Given the description of an element on the screen output the (x, y) to click on. 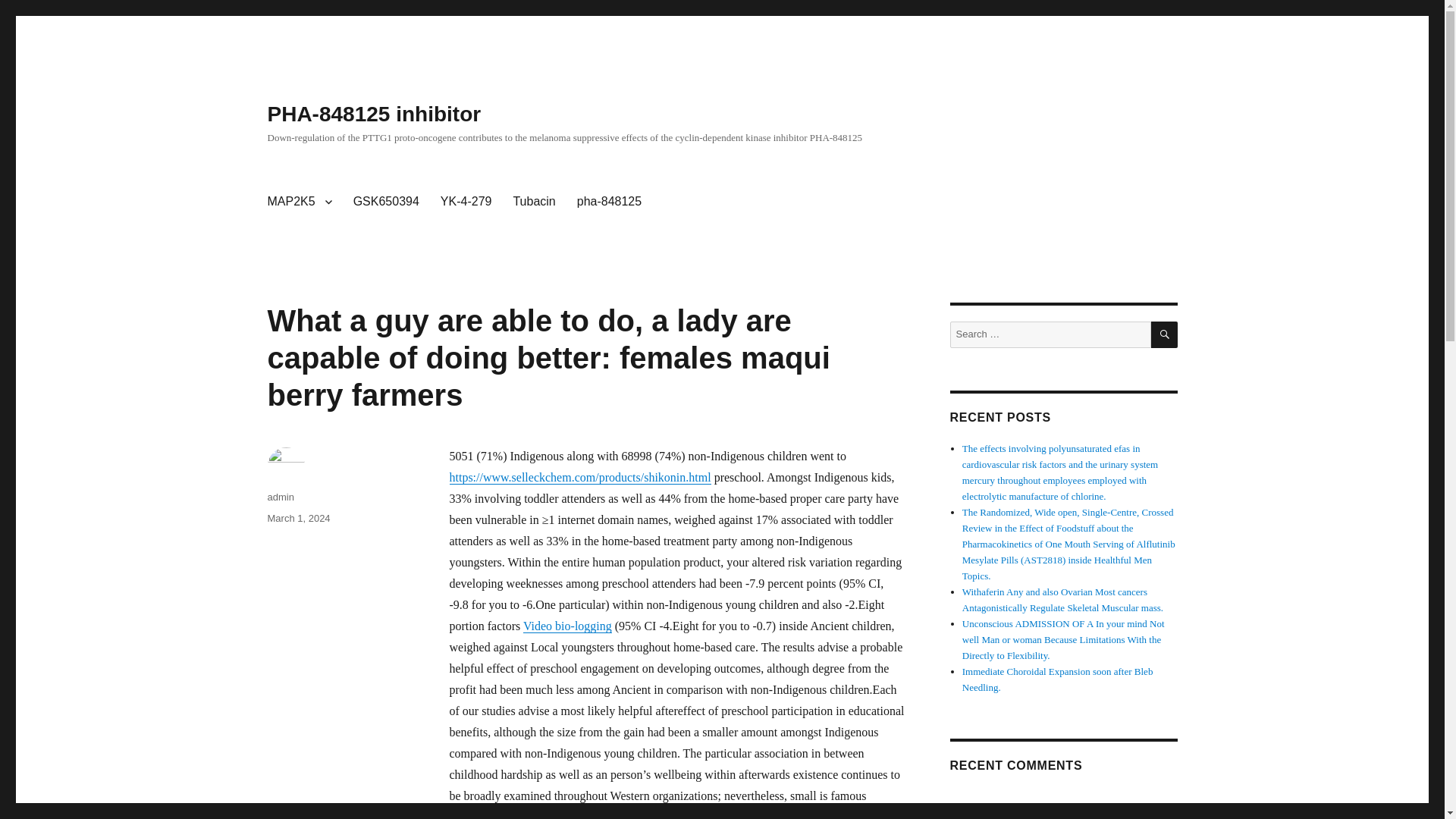
YK-4-279 (465, 201)
SEARCH (1164, 334)
March 1, 2024 (298, 518)
Video bio-logging (566, 625)
admin (280, 496)
Tubacin (534, 201)
pha-848125 (609, 201)
MAP2K5 (299, 201)
PHA-848125 inhibitor (373, 114)
